Given the description of an element on the screen output the (x, y) to click on. 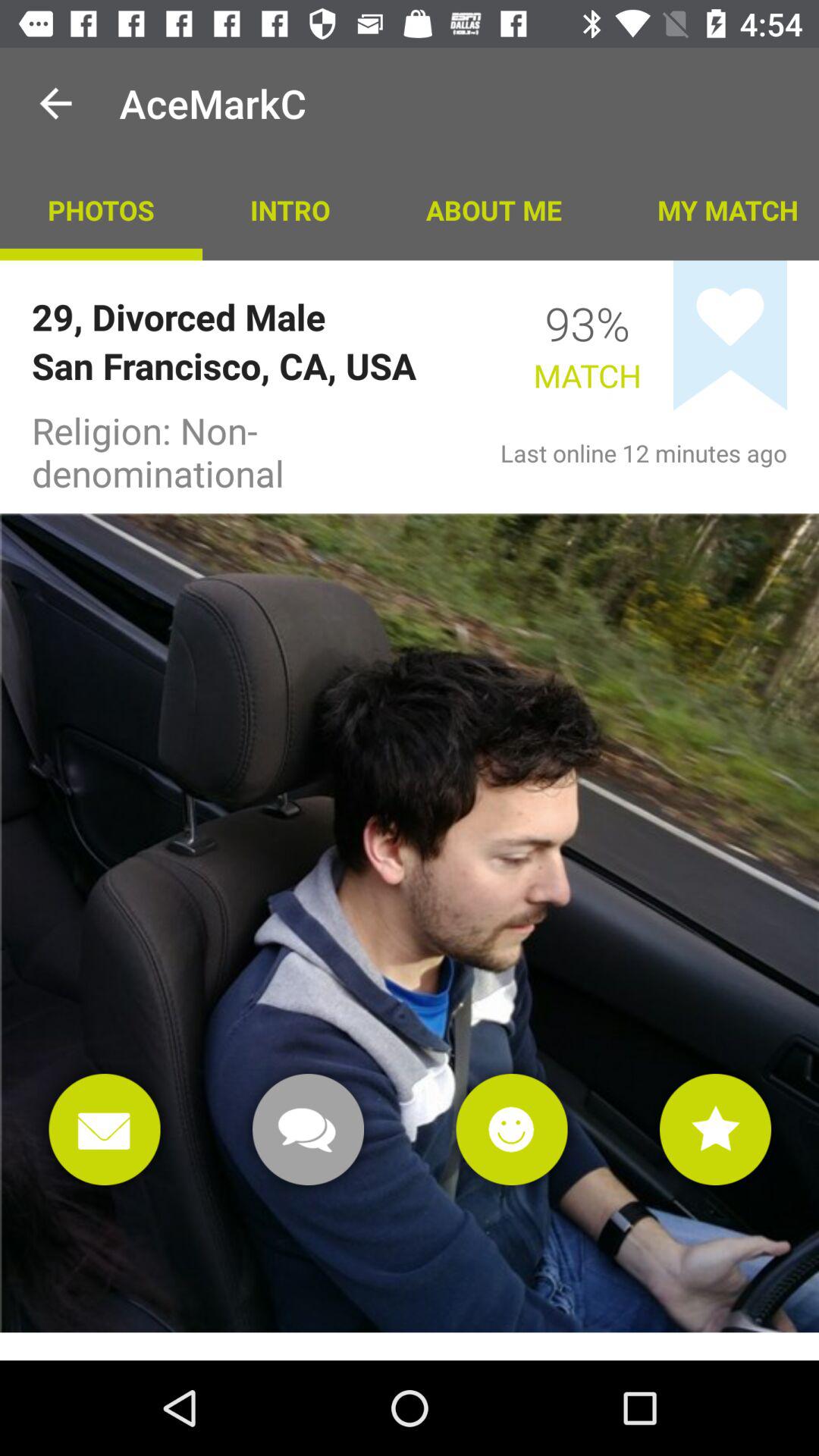
turn off the item to the left of acemarkc item (55, 103)
